Given the description of an element on the screen output the (x, y) to click on. 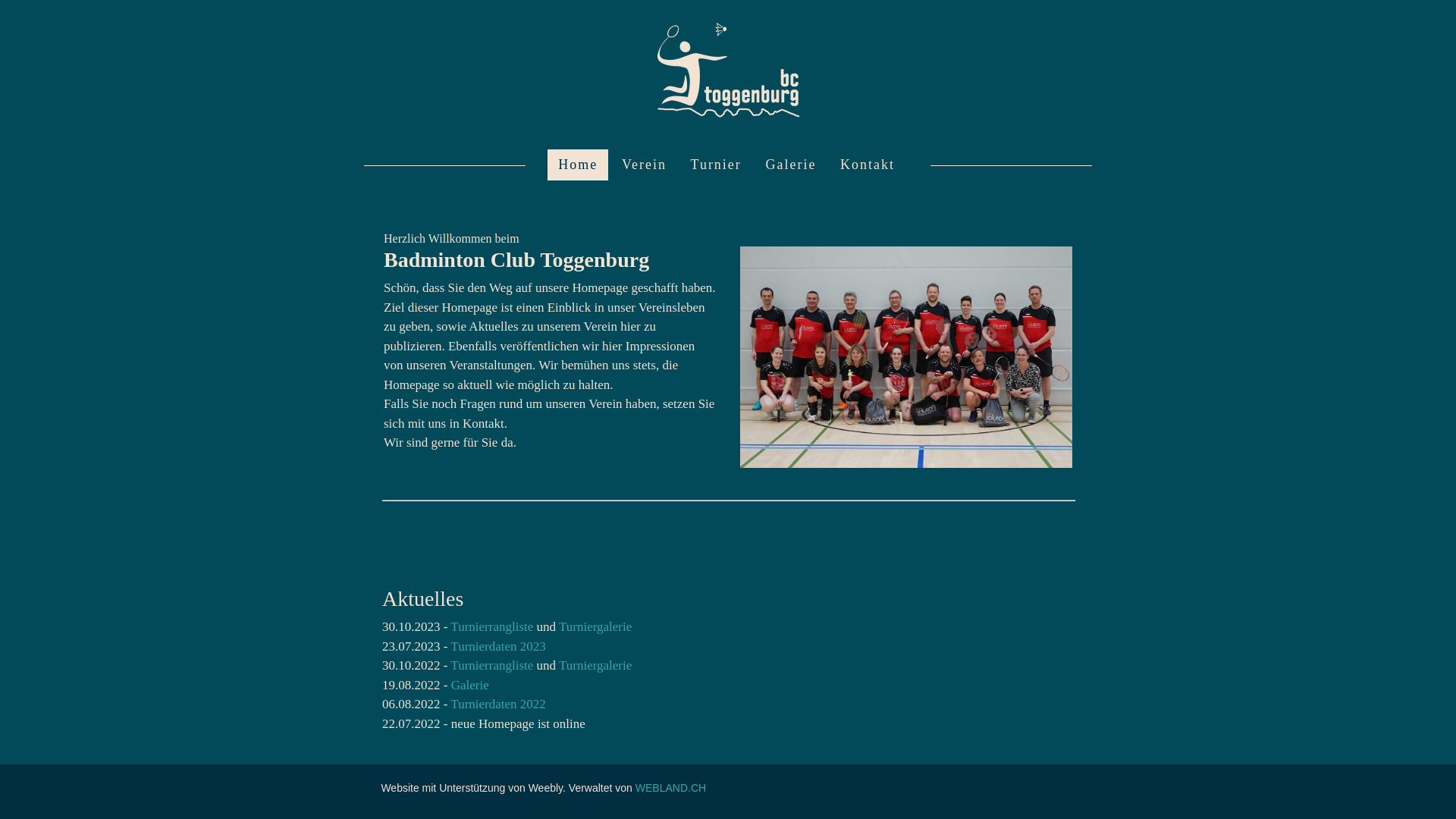
Galerie Element type: text (470, 684)
Verein Element type: text (644, 164)
Turniergalerie Element type: text (594, 626)
WEBLAND.CH Element type: text (670, 787)
Turnierdaten 2022 Element type: text (497, 703)
Turnierrangliste Element type: text (493, 626)
Home Element type: text (577, 164)
Kontakt Element type: text (867, 164)
Turnier Element type: text (716, 164)
Turnierdaten 2023 Element type: text (497, 646)
Galerie Element type: text (790, 164)
Turniergalerie Element type: text (594, 665)
Turnierrangliste Element type: text (493, 665)
